Given the description of an element on the screen output the (x, y) to click on. 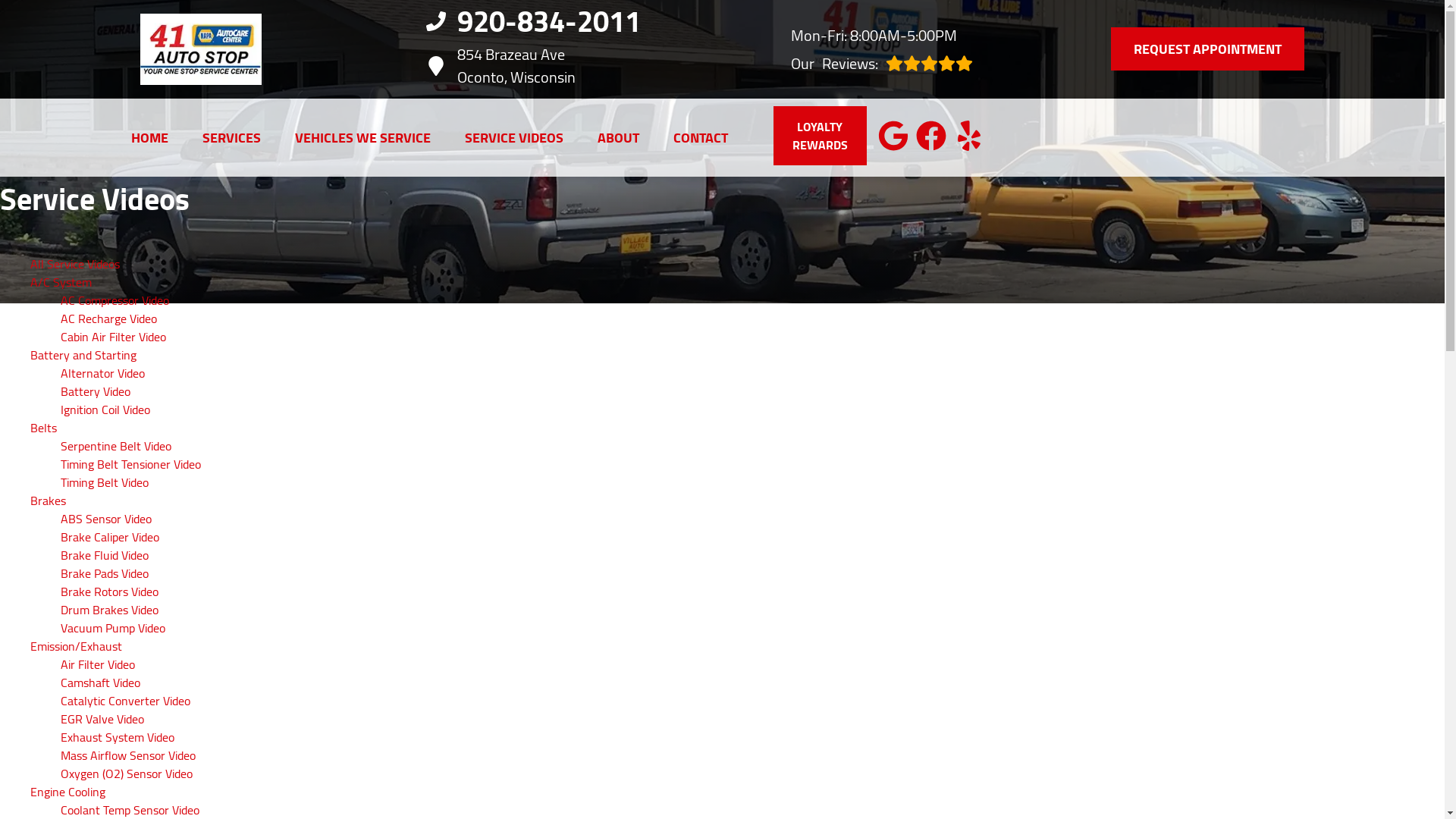
CONTACT Element type: text (700, 137)
Drum Brakes Video Element type: text (109, 609)
Mass Airflow Sensor Video Element type: text (127, 754)
AC Compressor Video Element type: text (114, 299)
All Service Videos Element type: text (74, 263)
Serpentine Belt Video Element type: text (115, 445)
Oxygen (O2) Sensor Video Element type: text (126, 773)
VEHICLES WE SERVICE Element type: text (361, 137)
Vacuum Pump Video Element type: text (112, 627)
Brake Fluid Video Element type: text (104, 554)
EGR Valve Video Element type: text (102, 718)
REQUEST APPOINTMENT Element type: text (1207, 48)
Timing Belt Video Element type: text (104, 481)
Engine Cooling Element type: text (67, 791)
Catalytic Converter Video Element type: text (125, 700)
41 Auto Stop Element type: hover (199, 48)
854 Brazeau Ave
Oconto, Wisconsin Element type: text (539, 65)
Air Filter Video Element type: text (97, 663)
HOME Element type: text (148, 137)
Brakes Element type: text (47, 500)
Our
Reviews: Element type: text (881, 63)
Ignition Coil Video Element type: text (105, 409)
Belts Element type: text (43, 427)
SERVICES Element type: text (230, 137)
Battery and Starting Element type: text (83, 354)
Google My Business URL Element type: hover (893, 135)
Battery Video Element type: text (95, 390)
Facebook URL Element type: hover (931, 135)
Camshaft Video Element type: text (100, 682)
ABOUT Element type: text (618, 137)
Brake Rotors Video Element type: text (109, 591)
Brake Pads Video Element type: text (104, 572)
Brake Caliper Video Element type: text (109, 536)
Emission/Exhaust Element type: text (76, 645)
Alternator Video Element type: text (102, 372)
AC Recharge Video Element type: text (108, 318)
A/C System Element type: text (60, 281)
LOYALTY REWARDS Element type: text (819, 135)
ABS Sensor Video Element type: text (105, 518)
Cabin Air Filter Video Element type: text (113, 336)
Timing Belt Tensioner Video Element type: text (130, 463)
Yelp URL Element type: hover (968, 135)
920-834-2011   Element type: text (539, 21)
SERVICE VIDEOS Element type: text (513, 137)
Exhaust System Video Element type: text (117, 736)
